Given the description of an element on the screen output the (x, y) to click on. 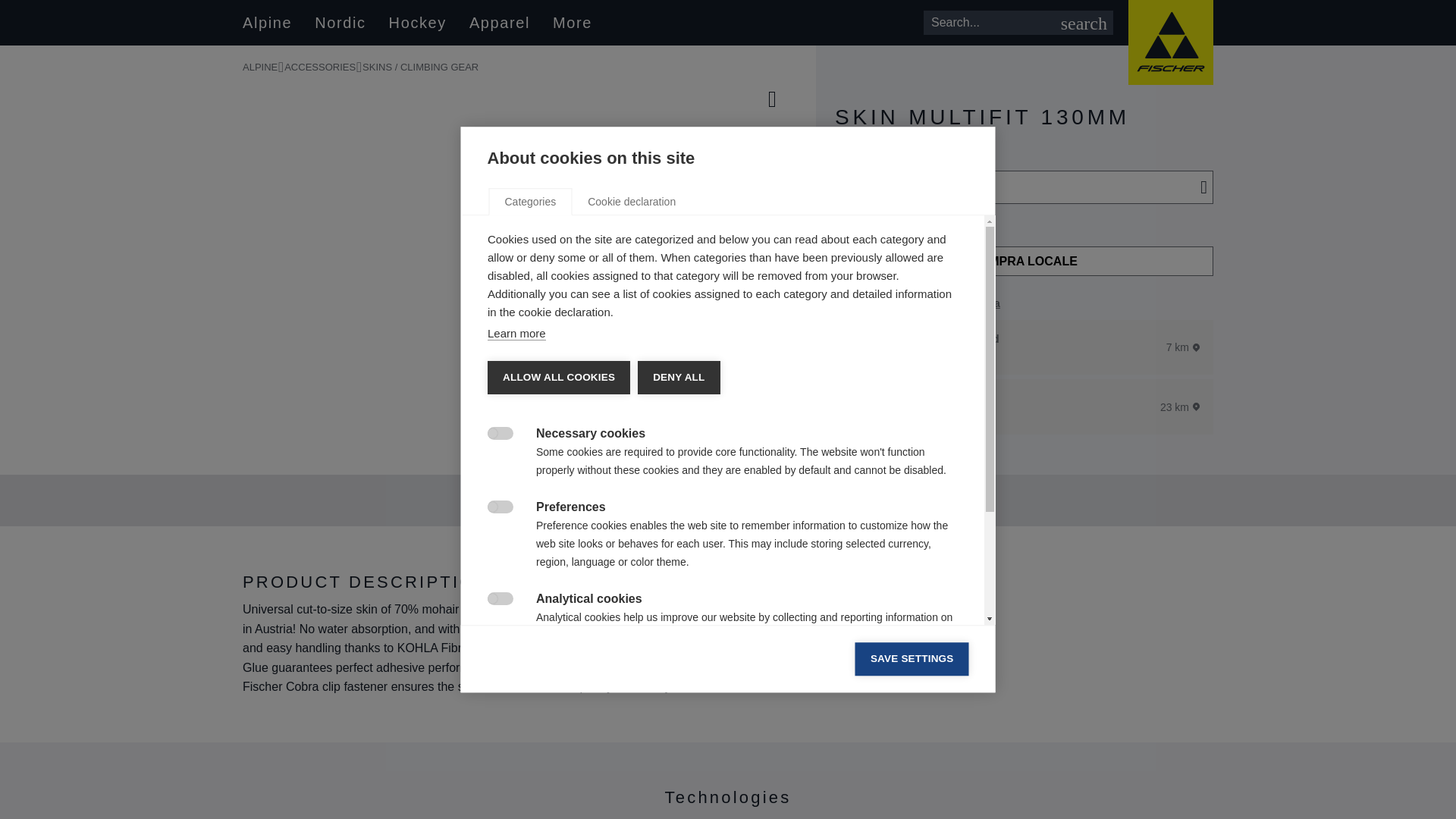
Hockey (417, 22)
Hockey (417, 22)
